Given the description of an element on the screen output the (x, y) to click on. 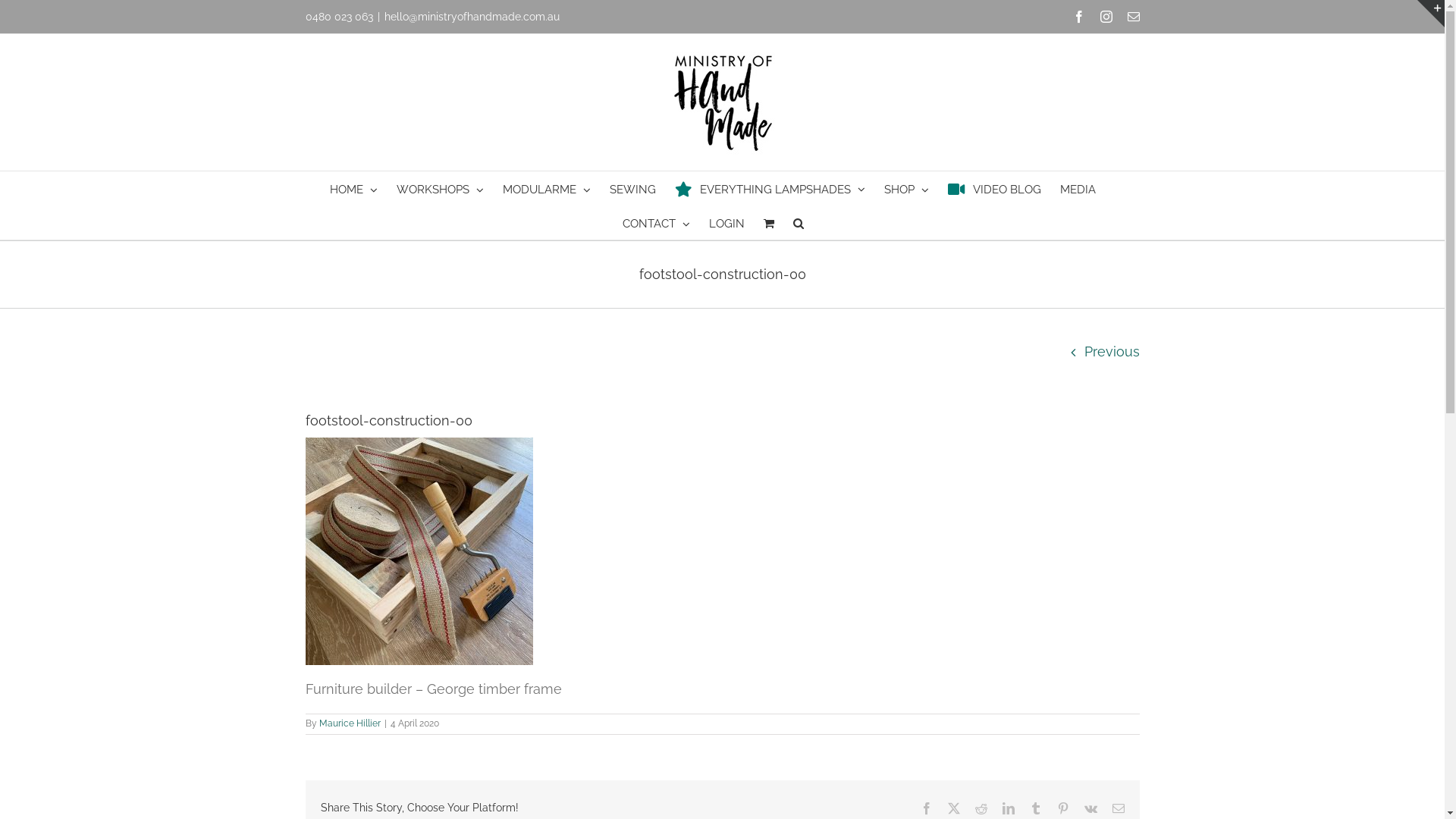
Email Element type: text (1117, 808)
Toggle Sliding Bar Area Element type: text (1430, 13)
Previous Element type: text (1111, 351)
Facebook Element type: text (1078, 16)
hello@ministryofhandmade.com.au Element type: text (470, 16)
CONTACT Element type: text (655, 222)
EVERYTHING LAMPSHADES Element type: text (769, 188)
Email Element type: text (1132, 16)
Facebook Element type: text (926, 808)
Twitter Element type: text (953, 808)
SHOP Element type: text (906, 188)
MEDIA Element type: text (1077, 188)
MODULARME Element type: text (546, 188)
Vk Element type: text (1090, 808)
Maurice Hillier Element type: text (348, 723)
WORKSHOPS Element type: text (439, 188)
Instagram Element type: text (1105, 16)
HOME Element type: text (353, 188)
LOGIN Element type: text (725, 222)
Search Element type: hover (798, 222)
VIDEO BLOG Element type: text (994, 188)
Reddit Element type: text (981, 808)
Tumblr Element type: text (1035, 808)
LinkedIn Element type: text (1008, 808)
Pinterest Element type: text (1063, 808)
SEWING Element type: text (632, 188)
